Given the description of an element on the screen output the (x, y) to click on. 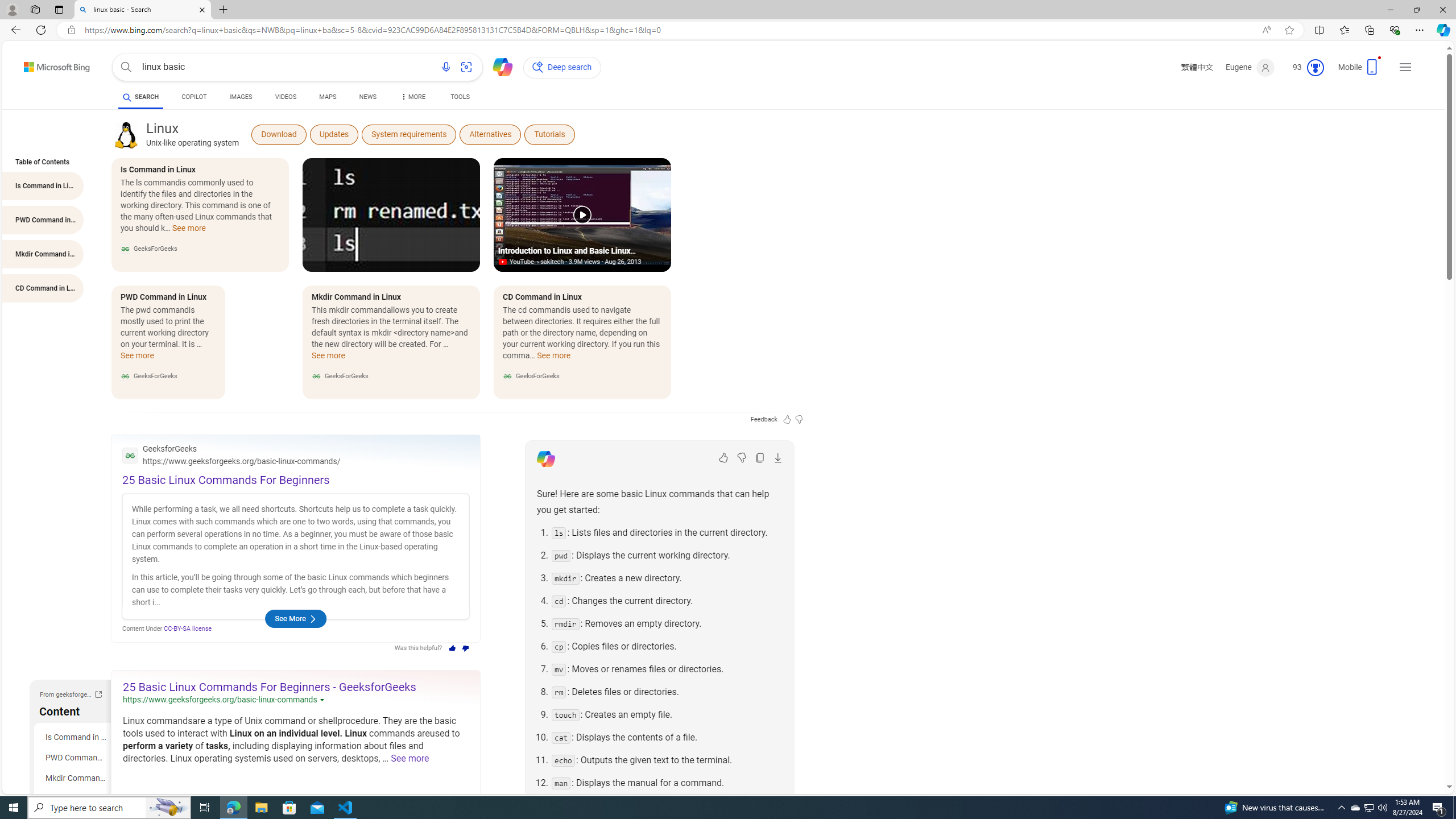
See more CD Command in Linux (553, 358)
cat: Displays the contents of a file. (666, 737)
Download (279, 134)
IMAGES (240, 96)
Export (777, 457)
PWD Command in Linux (74, 757)
Tutorials (549, 134)
MORE (412, 98)
linux basic - Search (142, 9)
See more Is Command in Linux (188, 230)
